Given the description of an element on the screen output the (x, y) to click on. 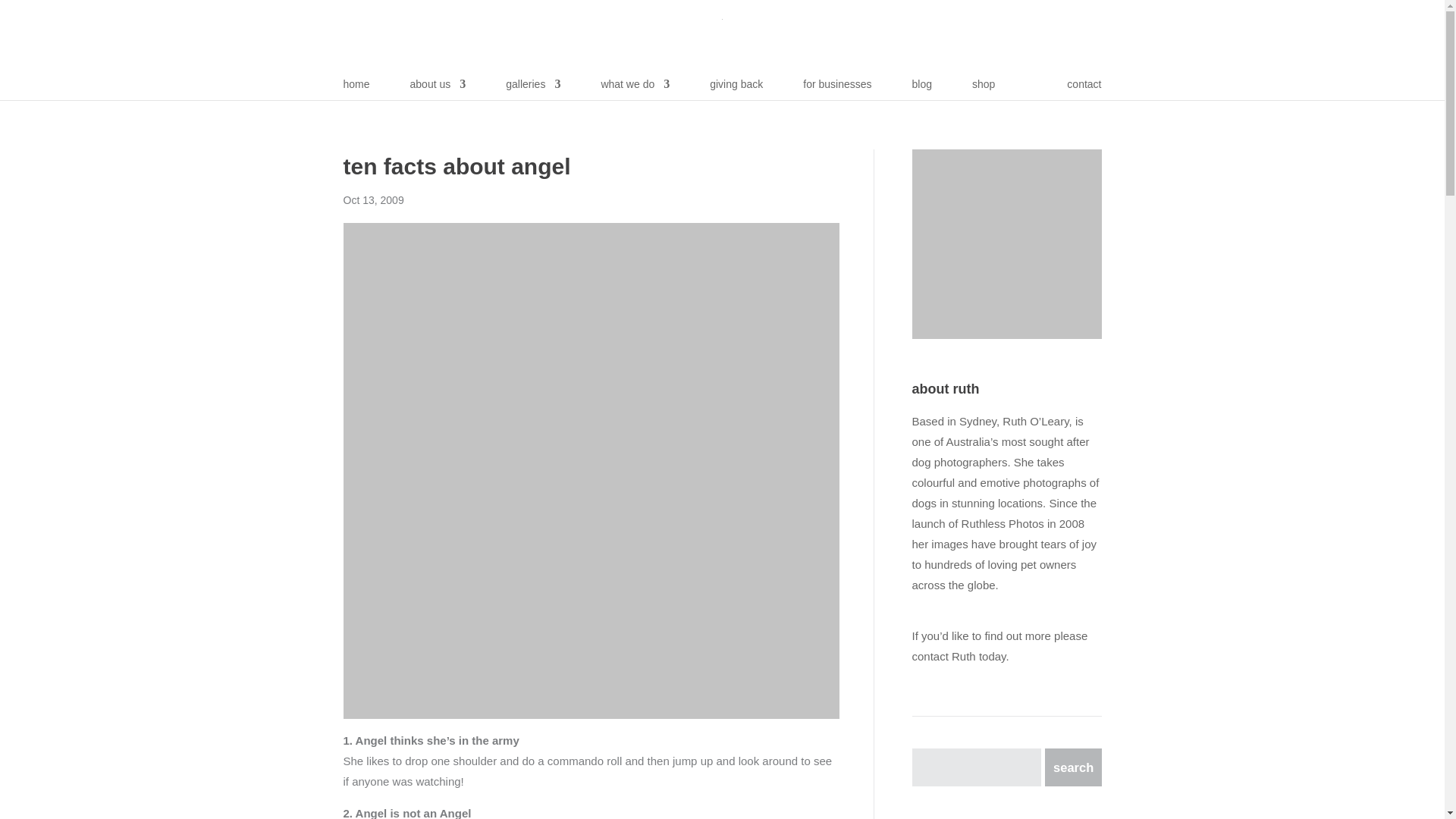
about us (437, 88)
blog (921, 88)
home (355, 88)
giving back (736, 88)
what we do (634, 88)
contact (1083, 88)
Search (1070, 767)
for businesses (836, 88)
galleries (532, 88)
